Given the description of an element on the screen output the (x, y) to click on. 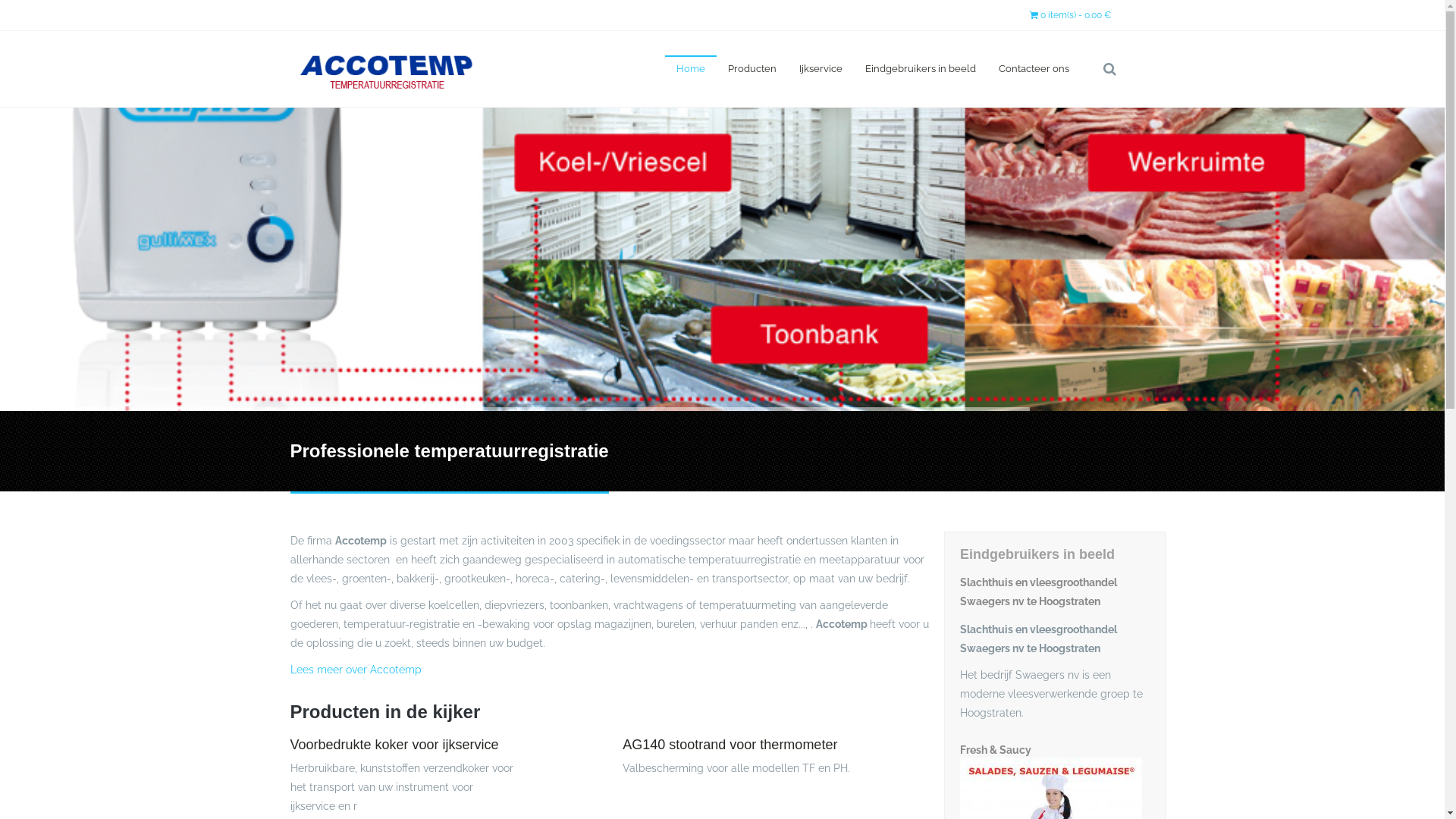
Slachthuis en vleesgroothandel Swaegers nv te Hoogstraten Element type: text (1055, 575)
Home Element type: text (690, 67)
Fresh & Saucy Element type: text (1055, 743)
Overslaan en naar de inhoud gaan Element type: text (85, 0)
Producten Element type: text (751, 68)
Contacteer ons Element type: text (1033, 68)
Lees meer over Accotemp Element type: text (354, 669)
Eindgebruikers in beeld Element type: text (920, 68)
Voorbedrukte koker voor ijkservice Element type: text (393, 744)
Ijkservice Element type: text (820, 68)
AG140 stootrand voor thermometer Element type: text (729, 744)
